Given the description of an element on the screen output the (x, y) to click on. 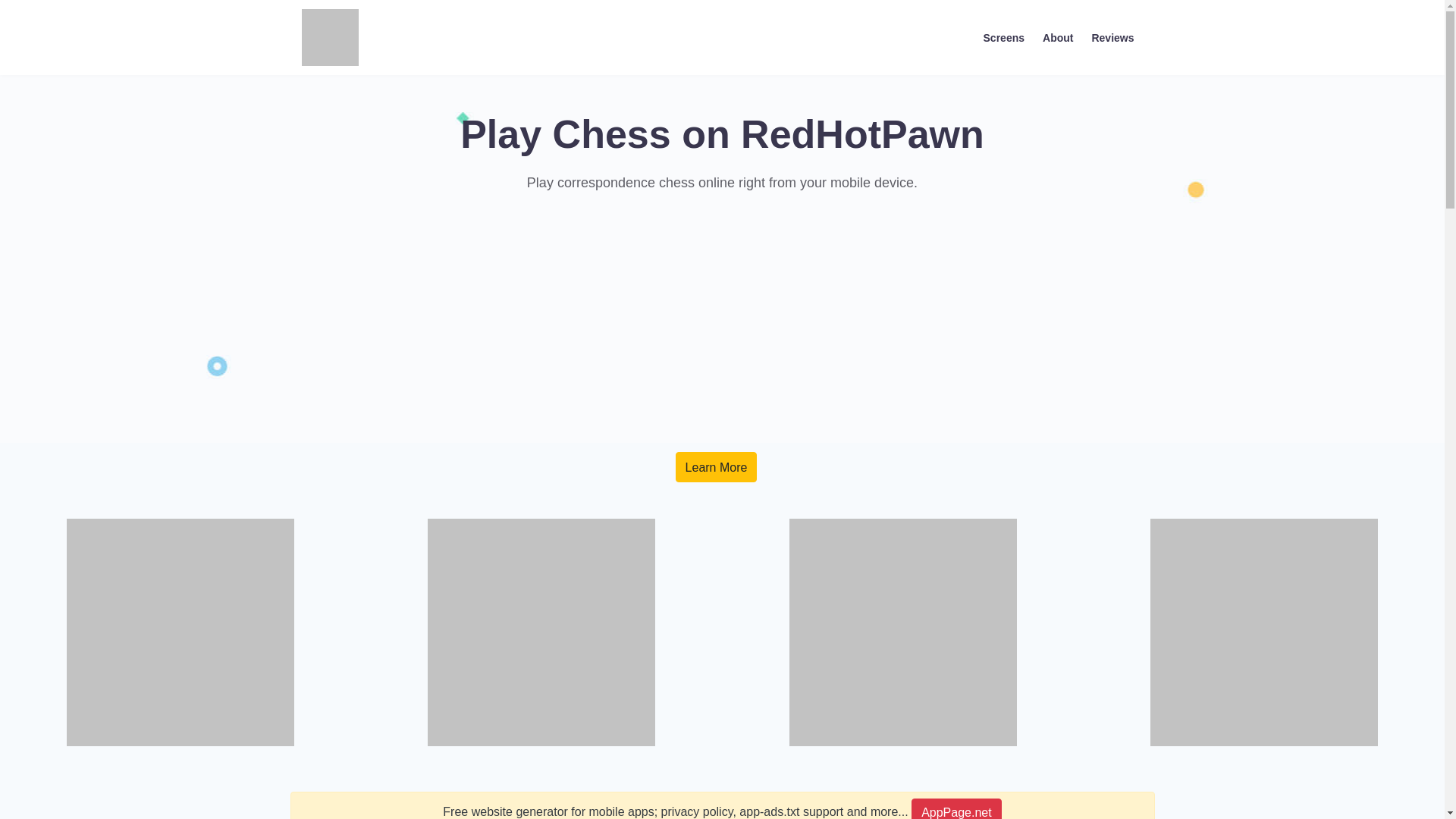
Learn More (716, 467)
Reviews (1111, 36)
Reviews (1111, 36)
About (1057, 36)
Learn More (716, 467)
Screens (1003, 36)
Screens (1003, 36)
AppPage.net (956, 808)
About (1057, 36)
Learn More (716, 467)
